Given the description of an element on the screen output the (x, y) to click on. 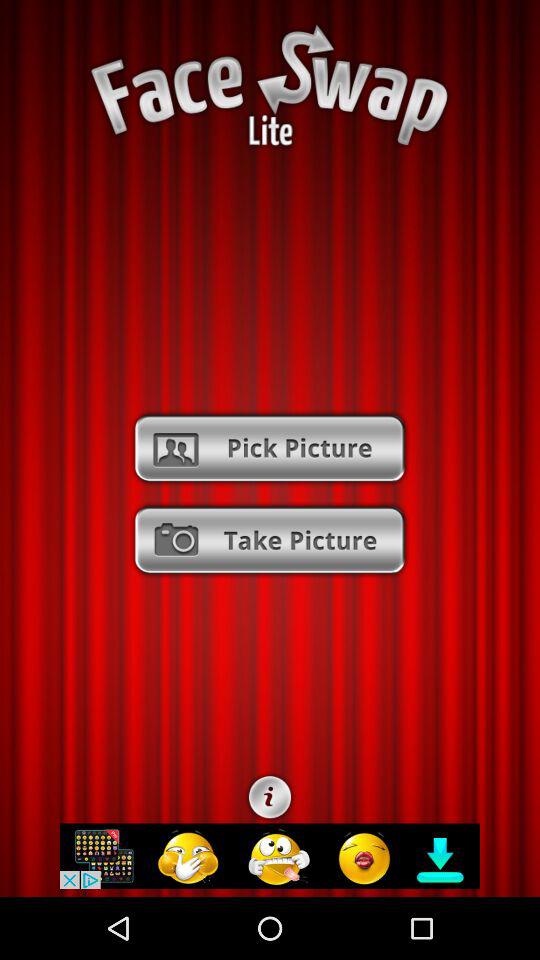
photos click option (269, 448)
